Given the description of an element on the screen output the (x, y) to click on. 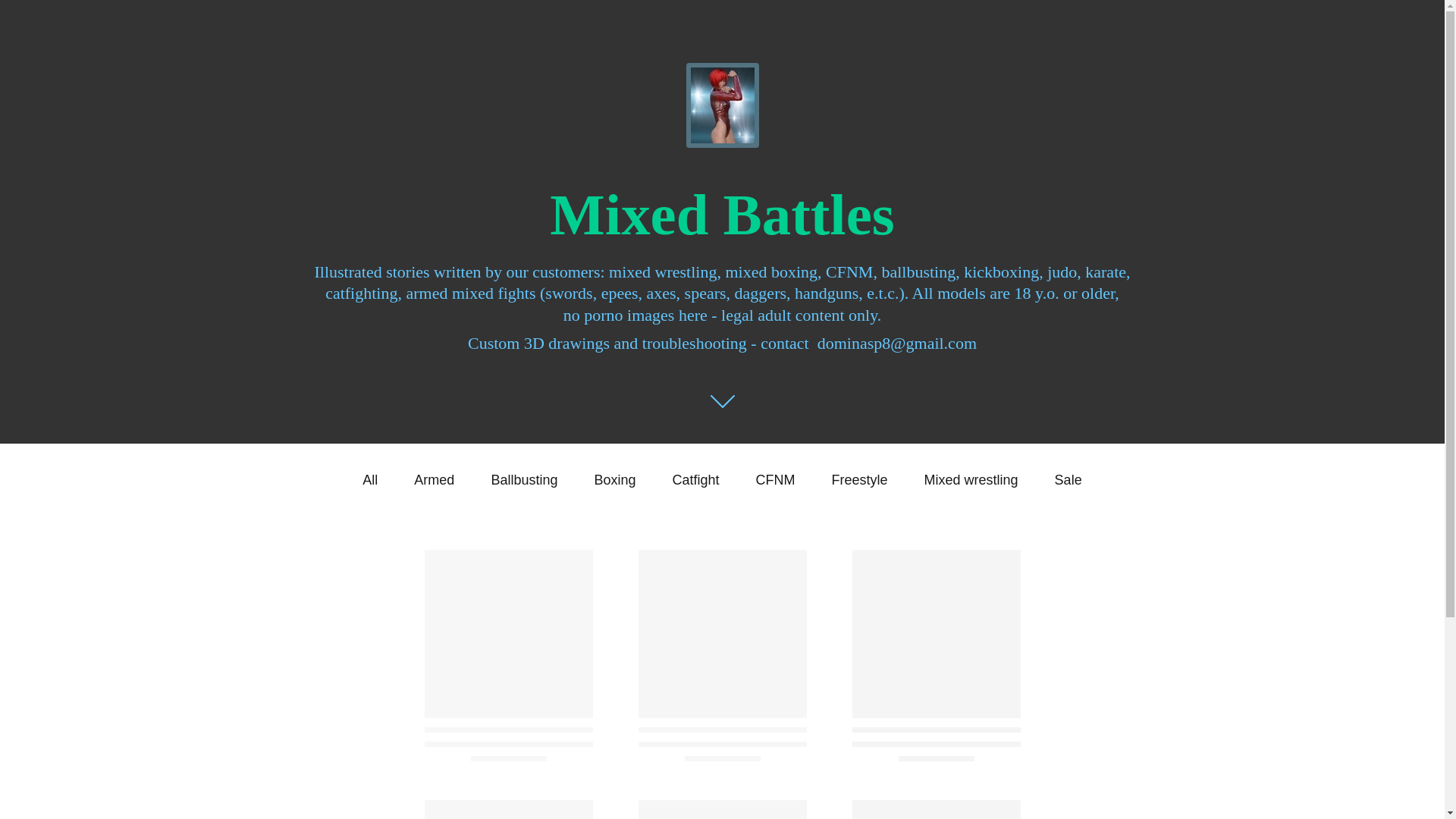
Catfight (695, 479)
Sale (1067, 479)
Mixed wrestling (970, 479)
CFNM (774, 479)
Boxing (614, 479)
Armed (433, 479)
Ballbusting (523, 479)
Freestyle (859, 479)
